Given the description of an element on the screen output the (x, y) to click on. 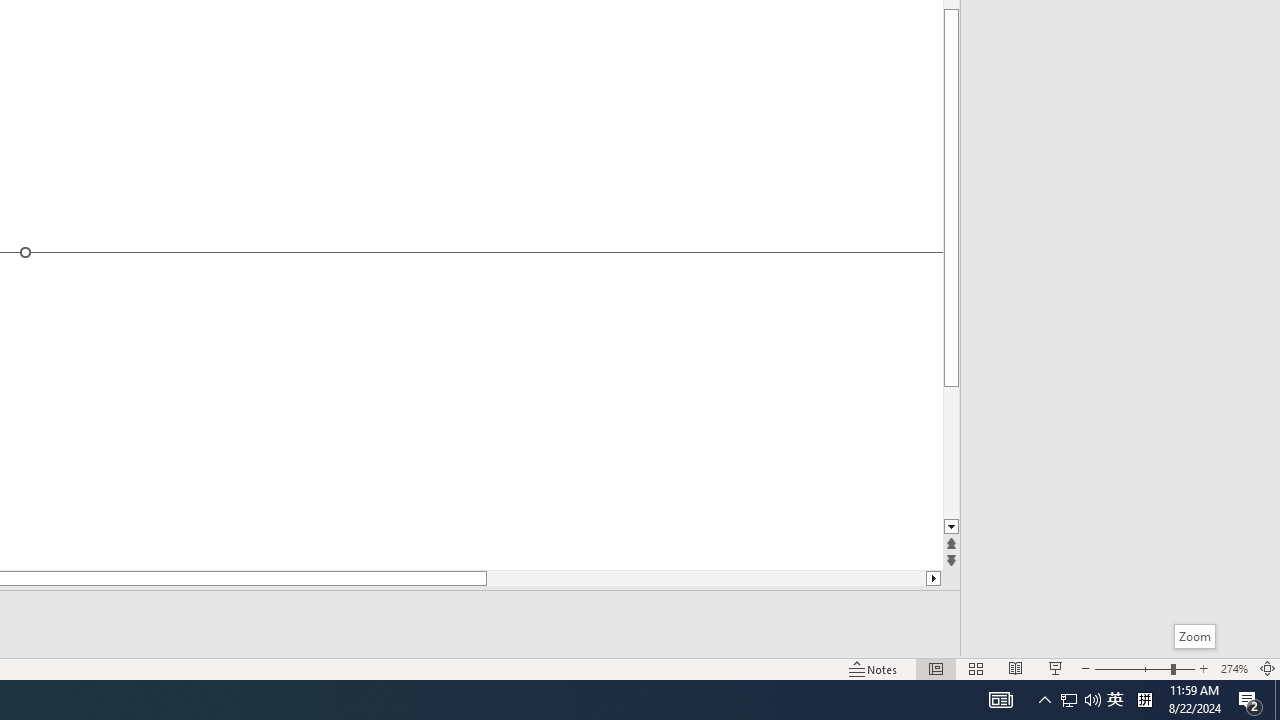
Zoom 274% (1234, 668)
